Given the description of an element on the screen output the (x, y) to click on. 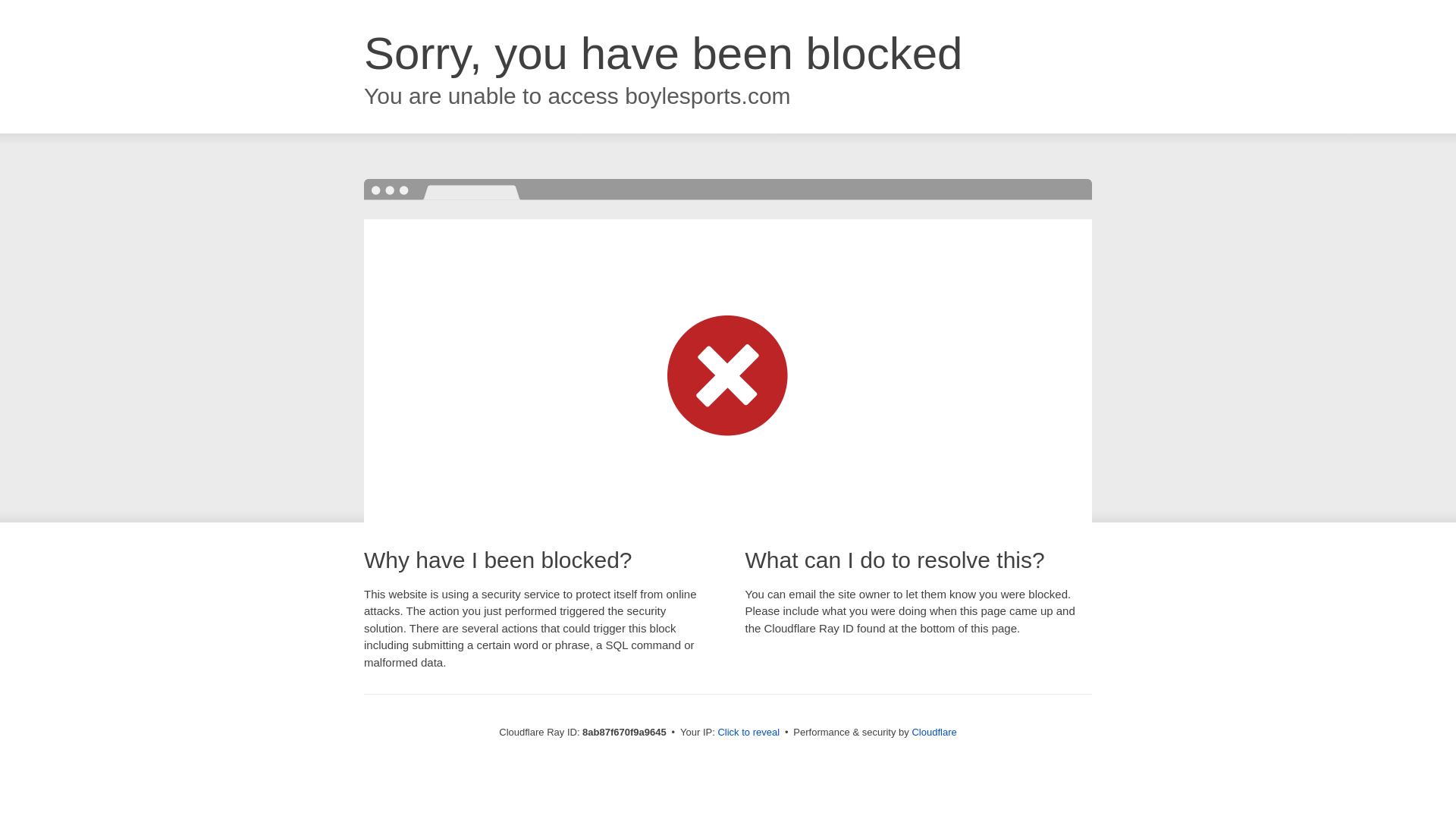
Cloudflare (933, 731)
Click to reveal (747, 732)
